Given the description of an element on the screen output the (x, y) to click on. 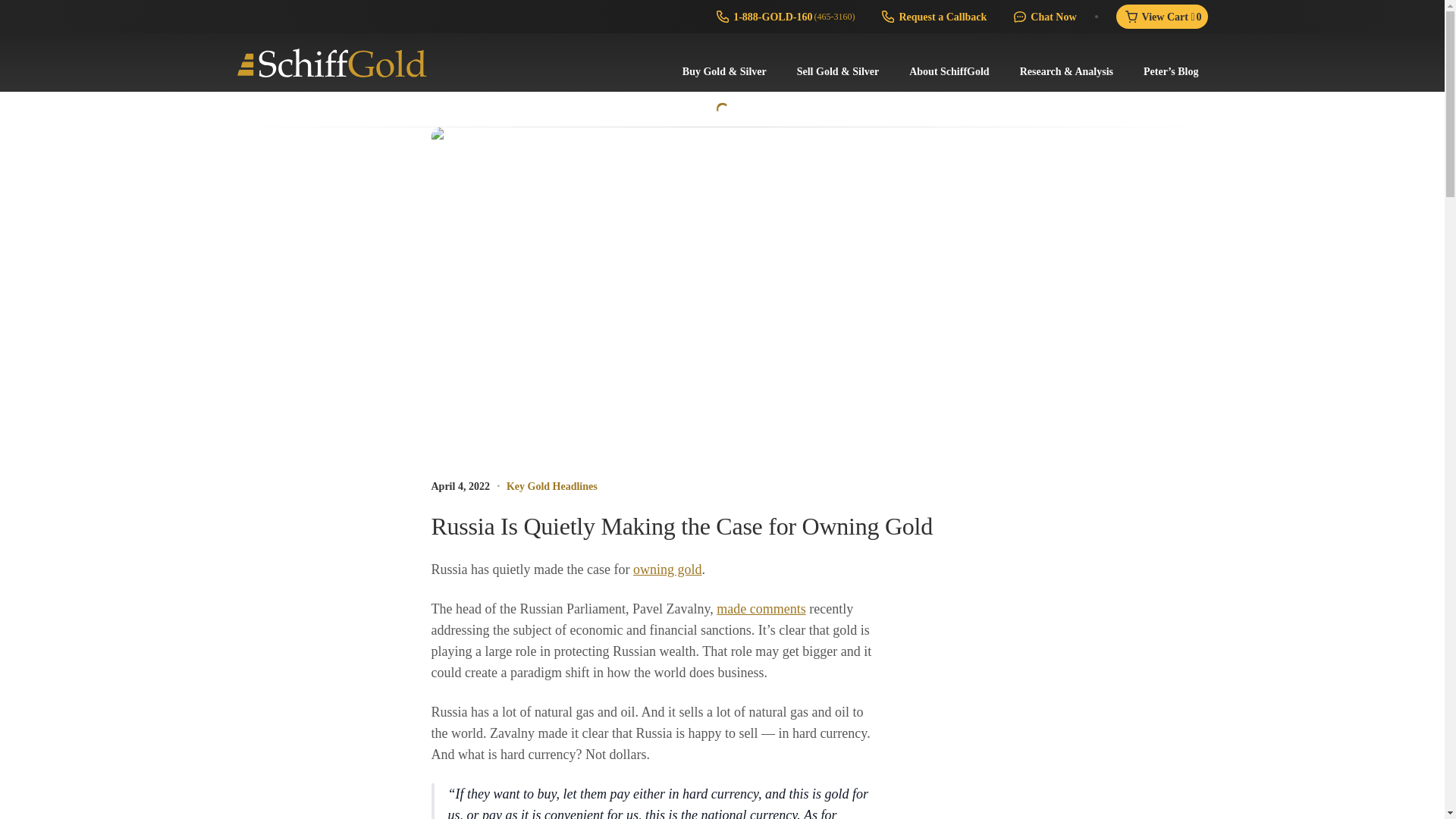
owning gold (667, 569)
Chat Now (1042, 16)
Request a Callback (932, 16)
About SchiffGold (948, 71)
made comments (760, 608)
